Given the description of an element on the screen output the (x, y) to click on. 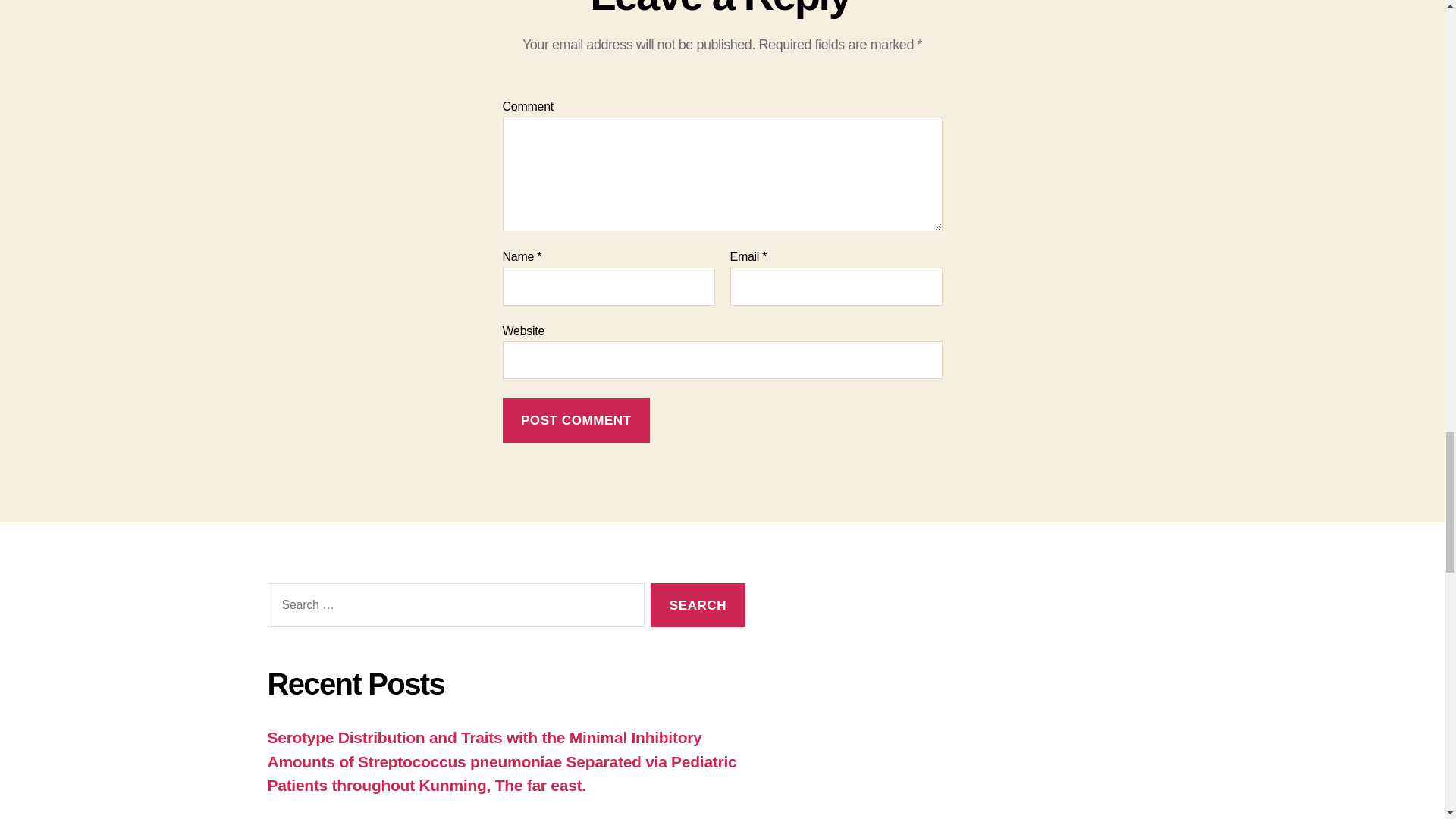
Post Comment (575, 420)
Search (697, 605)
Search (697, 605)
